Given the description of an element on the screen output the (x, y) to click on. 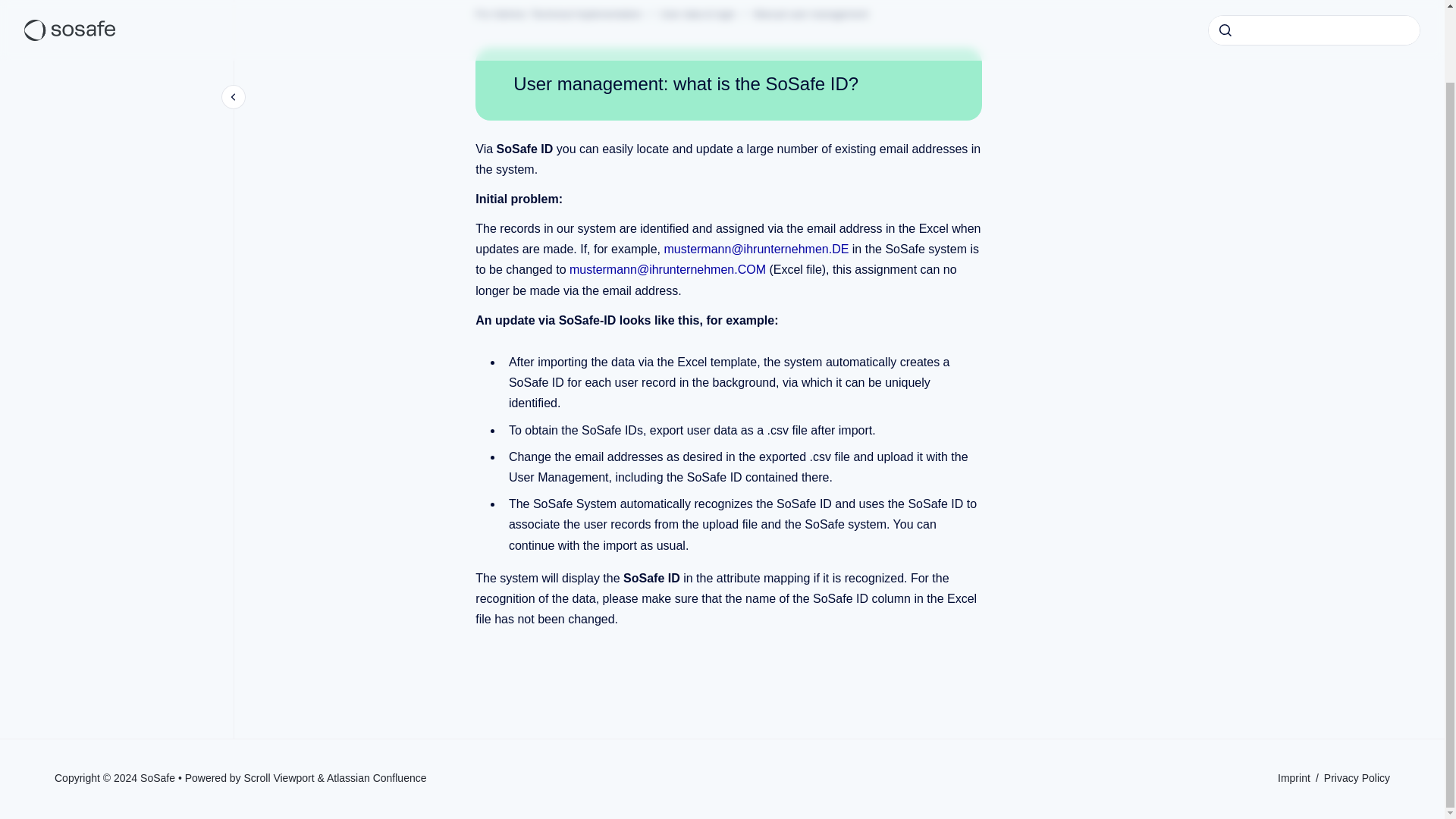
Scroll Viewport (280, 777)
Manual user management (810, 14)
For Admins: Technical Implementation (559, 14)
Privacy Policy (1356, 777)
Atlassian Confluence (376, 777)
Imprint (1295, 777)
